Given the description of an element on the screen output the (x, y) to click on. 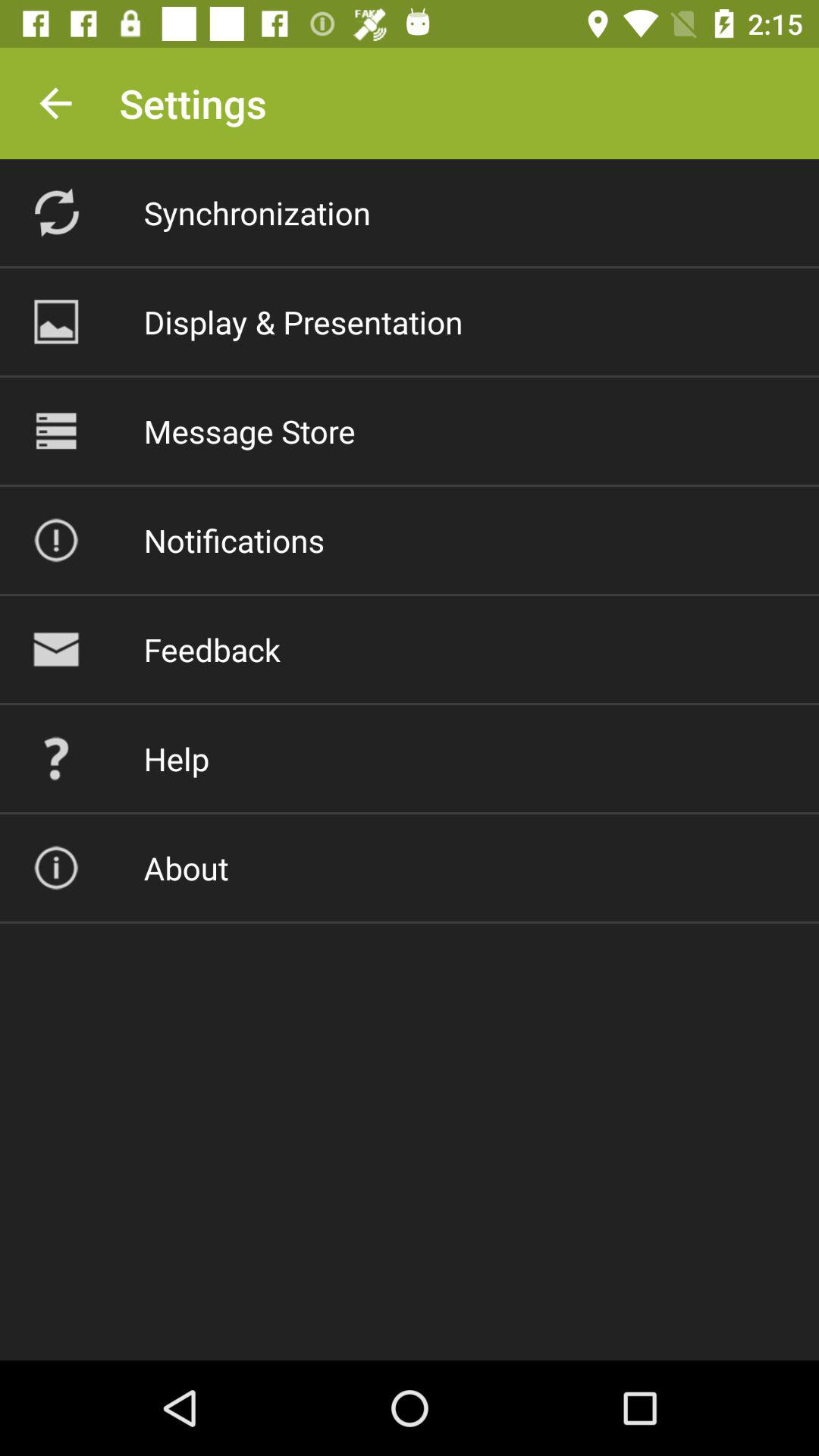
jump until the help icon (176, 758)
